Given the description of an element on the screen output the (x, y) to click on. 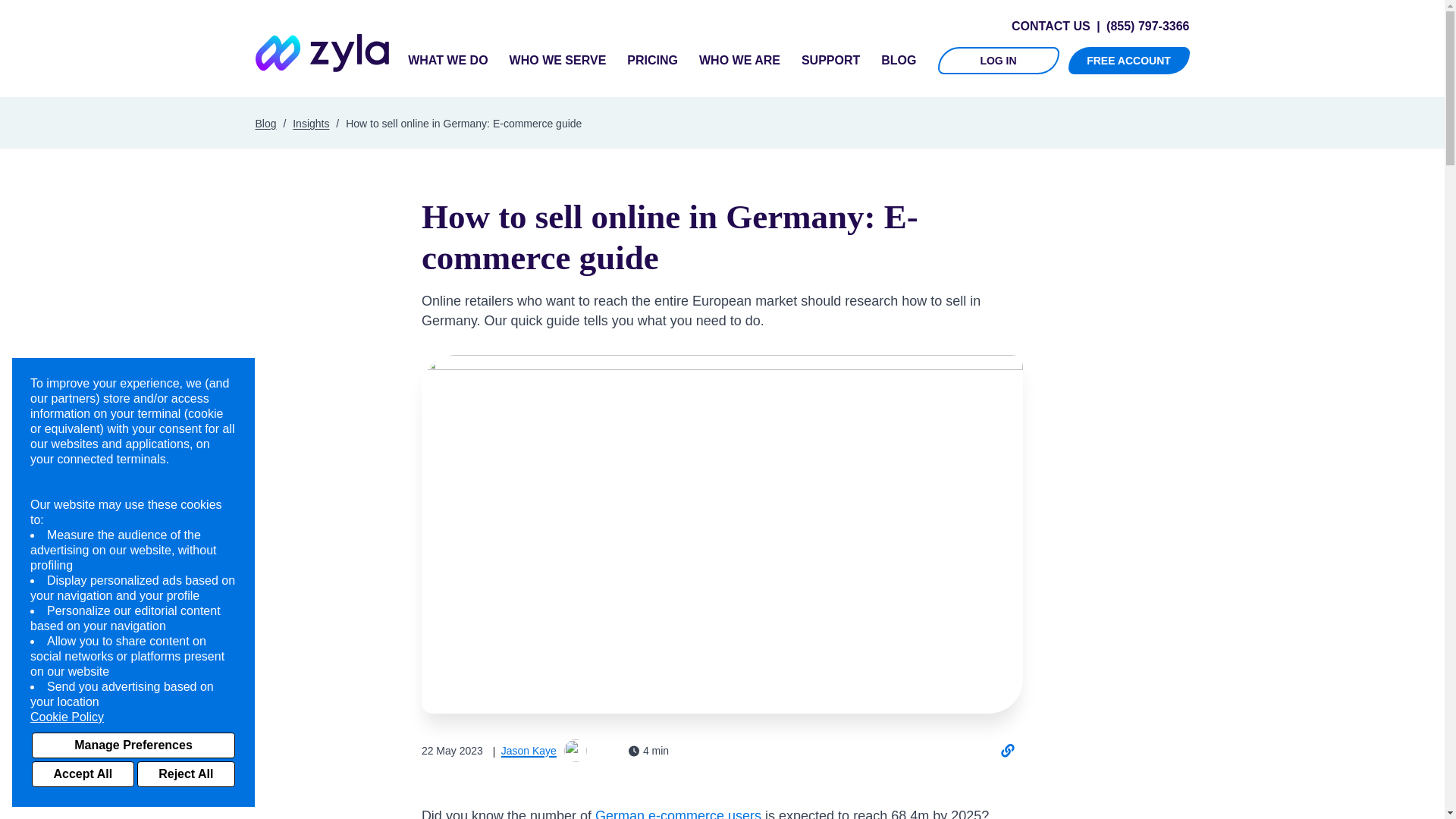
Cookie Policy (132, 717)
FREE ACCOUNT (1128, 60)
BLOG (897, 60)
WHO WE ARE (739, 60)
German e-commerce users (678, 813)
Jason Kaye (524, 750)
Reject All (185, 774)
Accept All (82, 774)
SUPPORT (831, 60)
LOG IN (997, 60)
Blog (265, 123)
Insights (310, 123)
WHO WE SERVE (558, 60)
PRICING (652, 60)
WHAT WE DO (447, 60)
